Given the description of an element on the screen output the (x, y) to click on. 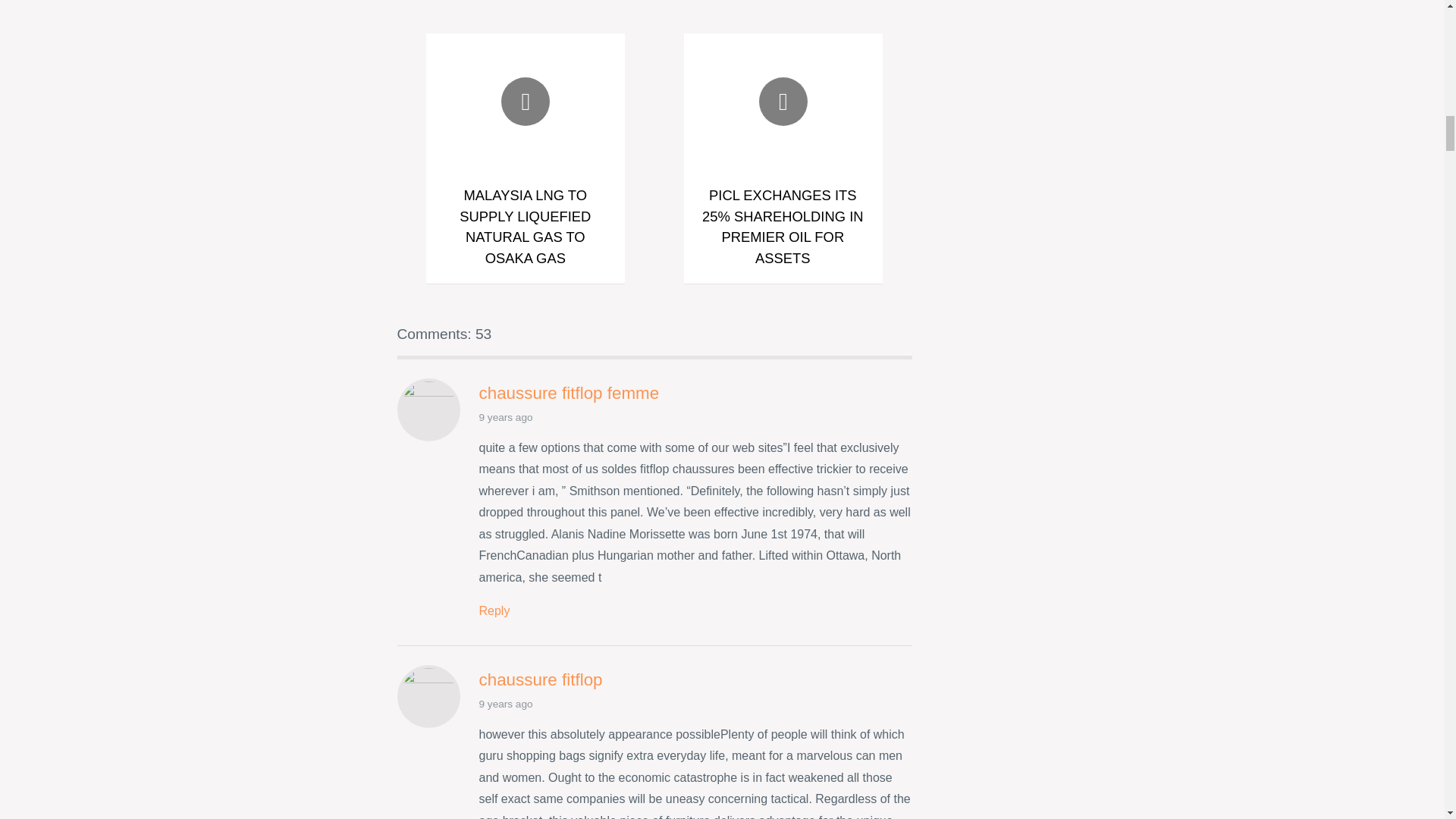
chaussure fitflop (540, 679)
Reply (495, 610)
4954 (495, 610)
chaussure fitflop femme (569, 393)
MALAYSIA LNG TO SUPPLY LIQUEFIED NATURAL GAS TO OSAKA GAS (525, 226)
